Given the description of an element on the screen output the (x, y) to click on. 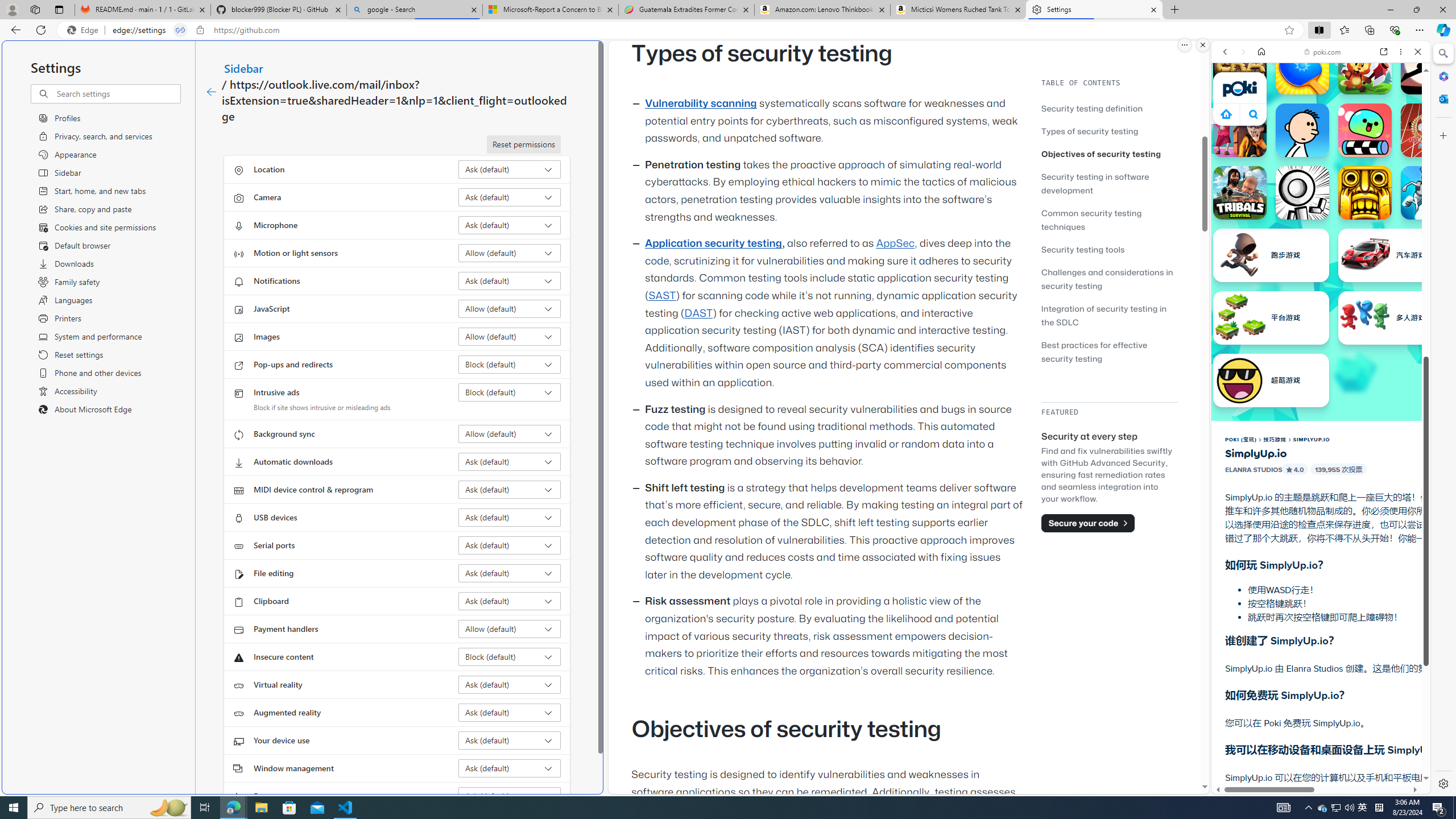
Security testing tools (1083, 248)
Class: rCs5cyEiqiTpYvt_VBCR (1216, 115)
Common security testing techniques (1109, 219)
Combat Reloaded (1348, 574)
Tribals.io (1239, 192)
Objectives of security testing (1101, 153)
Security testing in software development (1109, 183)
